Given the description of an element on the screen output the (x, y) to click on. 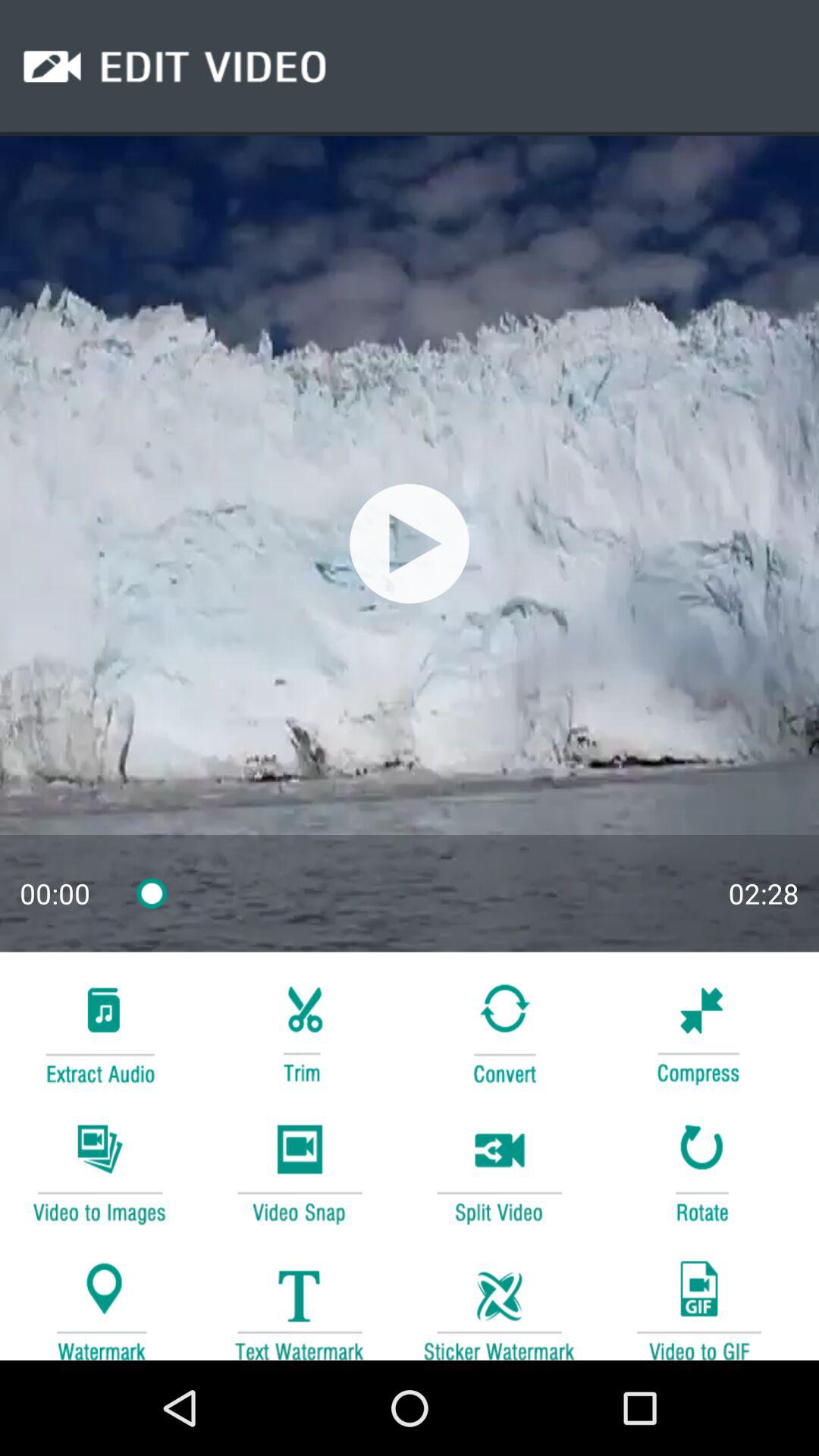
watermark (498, 1303)
